Given the description of an element on the screen output the (x, y) to click on. 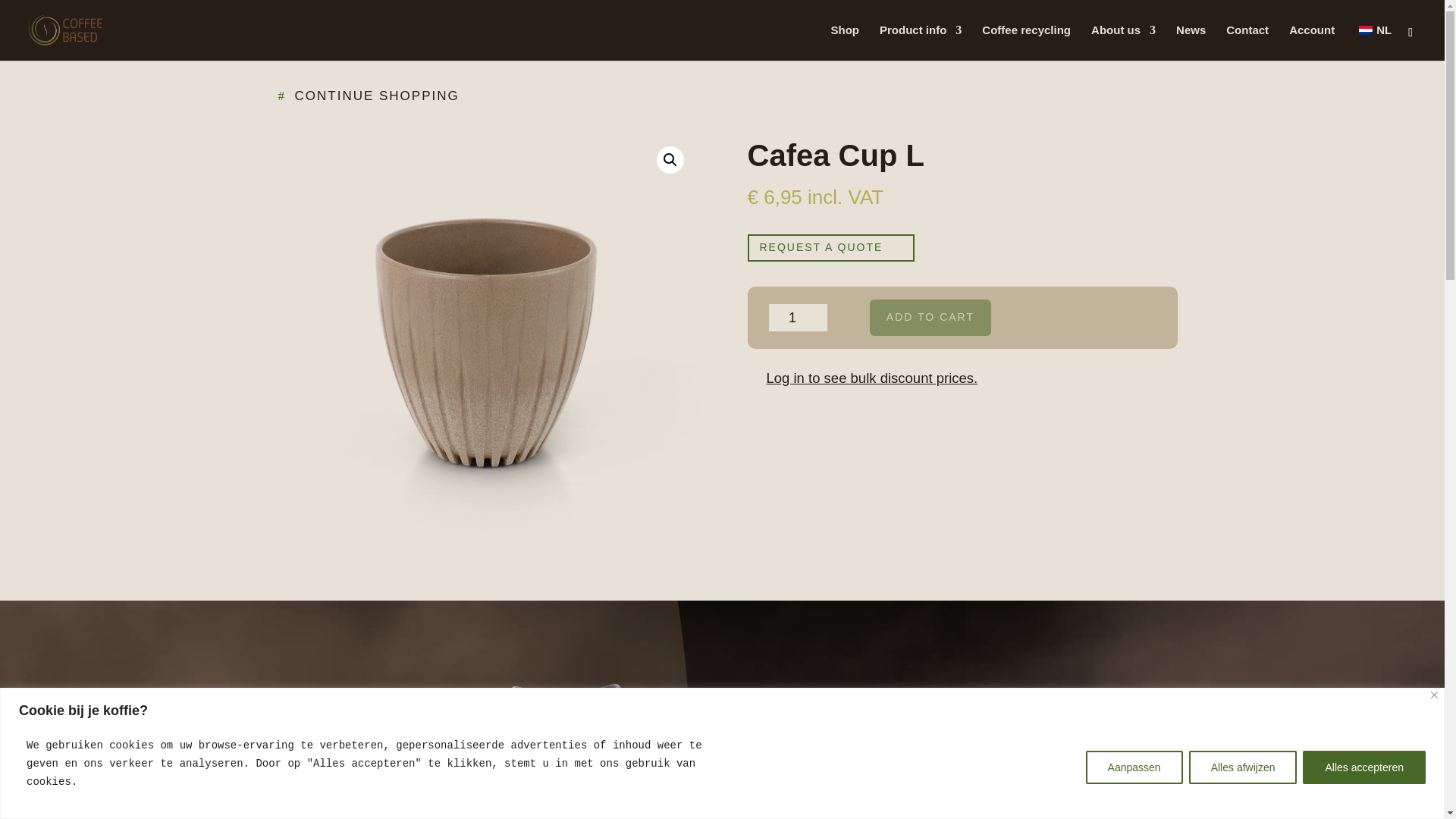
Dutch (1365, 30)
News (1190, 42)
Alles afwijzen (1243, 767)
1 (797, 317)
About us (1123, 42)
Aanpassen (1134, 767)
Alles accepteren (1364, 767)
Product info (919, 42)
Shop (844, 42)
Coffee recycling (1025, 42)
